Given the description of an element on the screen output the (x, y) to click on. 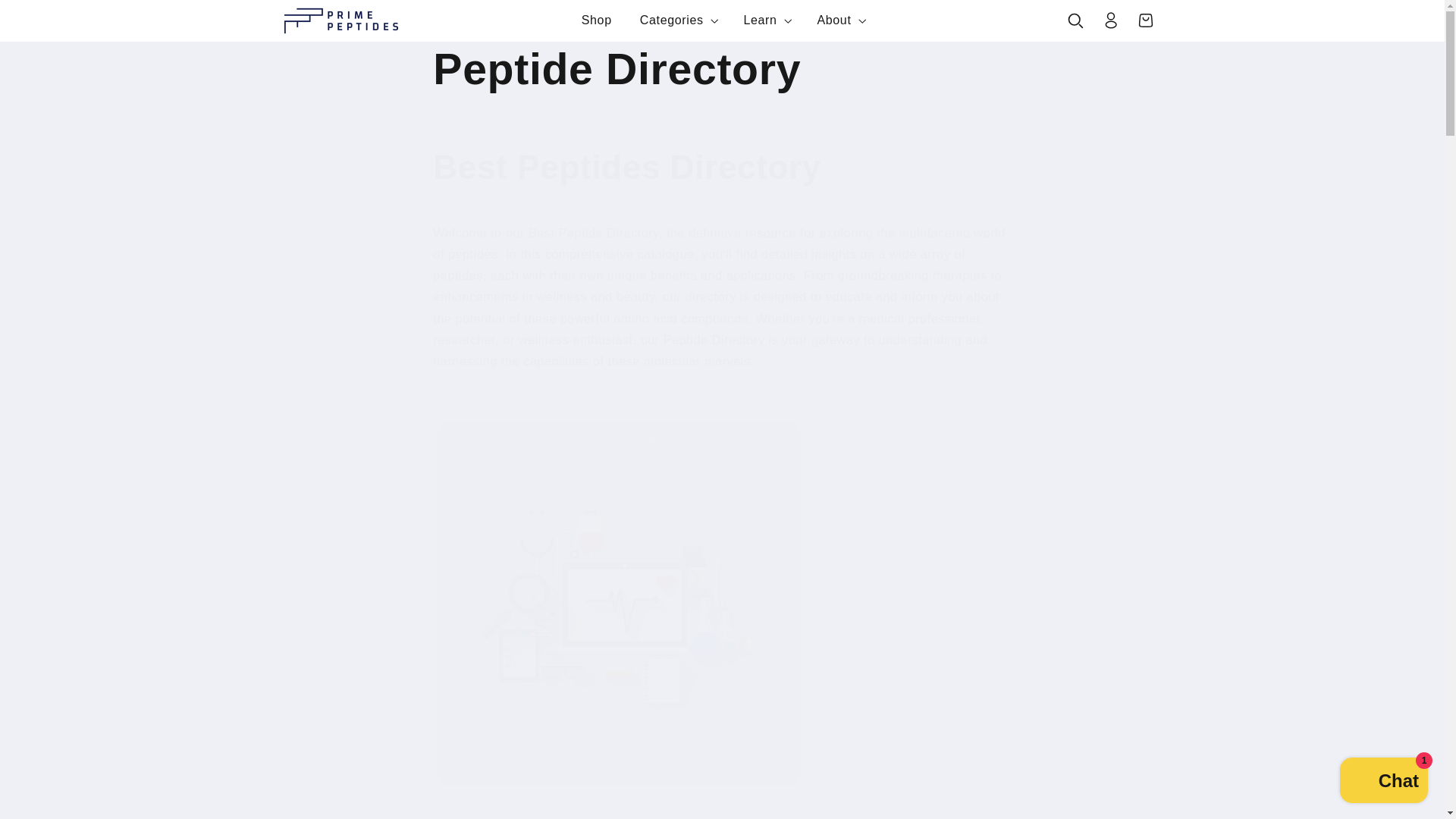
Skip to content (48, 18)
Shopify online store chat (1383, 781)
Peptide Directory (721, 69)
Shop (596, 20)
